Given the description of an element on the screen output the (x, y) to click on. 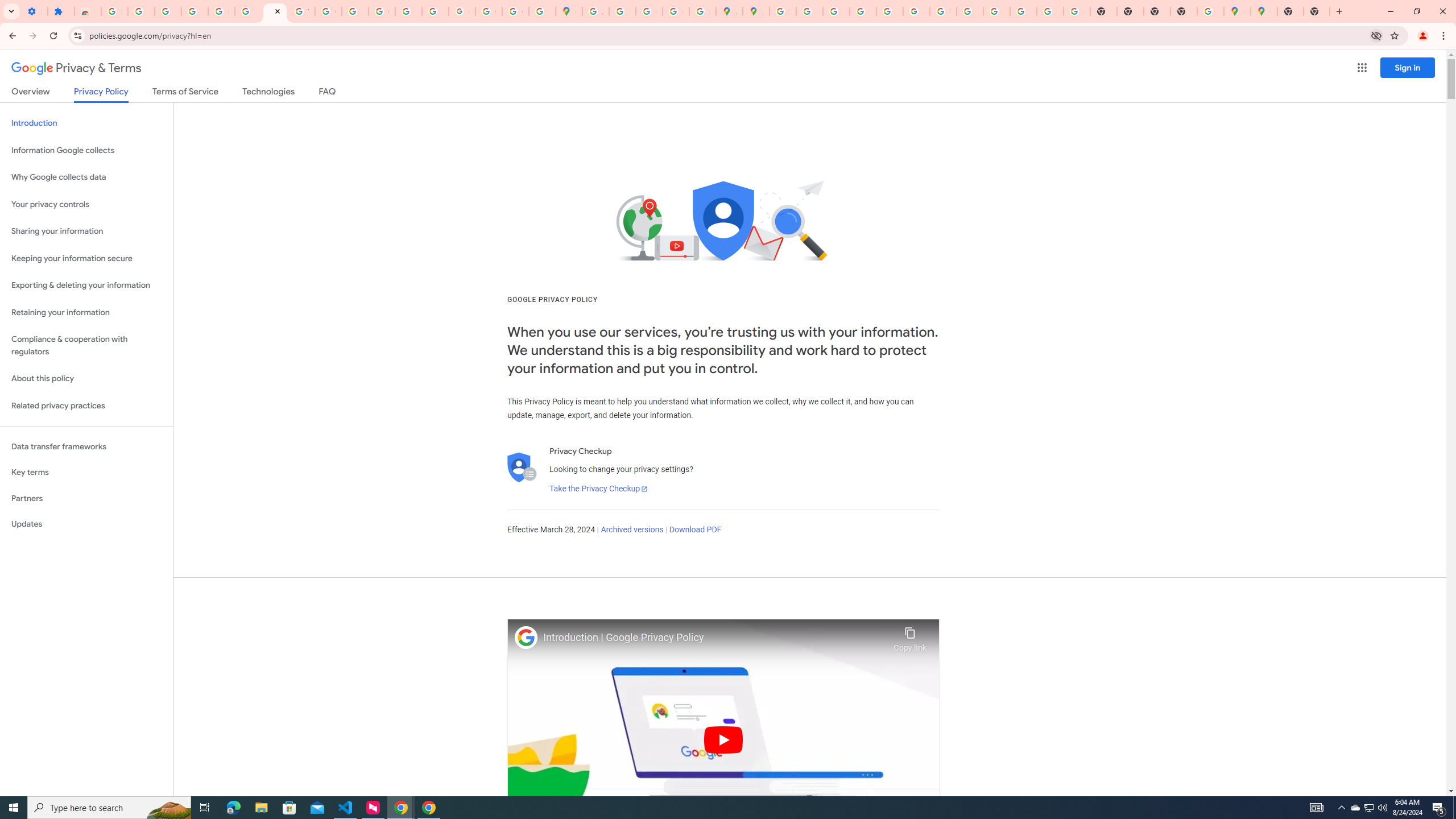
Sign in - Google Accounts (221, 11)
New Tab (1316, 11)
Google Maps (1263, 11)
Safety in Our Products - Google Safety Center (702, 11)
Google Maps (1236, 11)
